Given the description of an element on the screen output the (x, y) to click on. 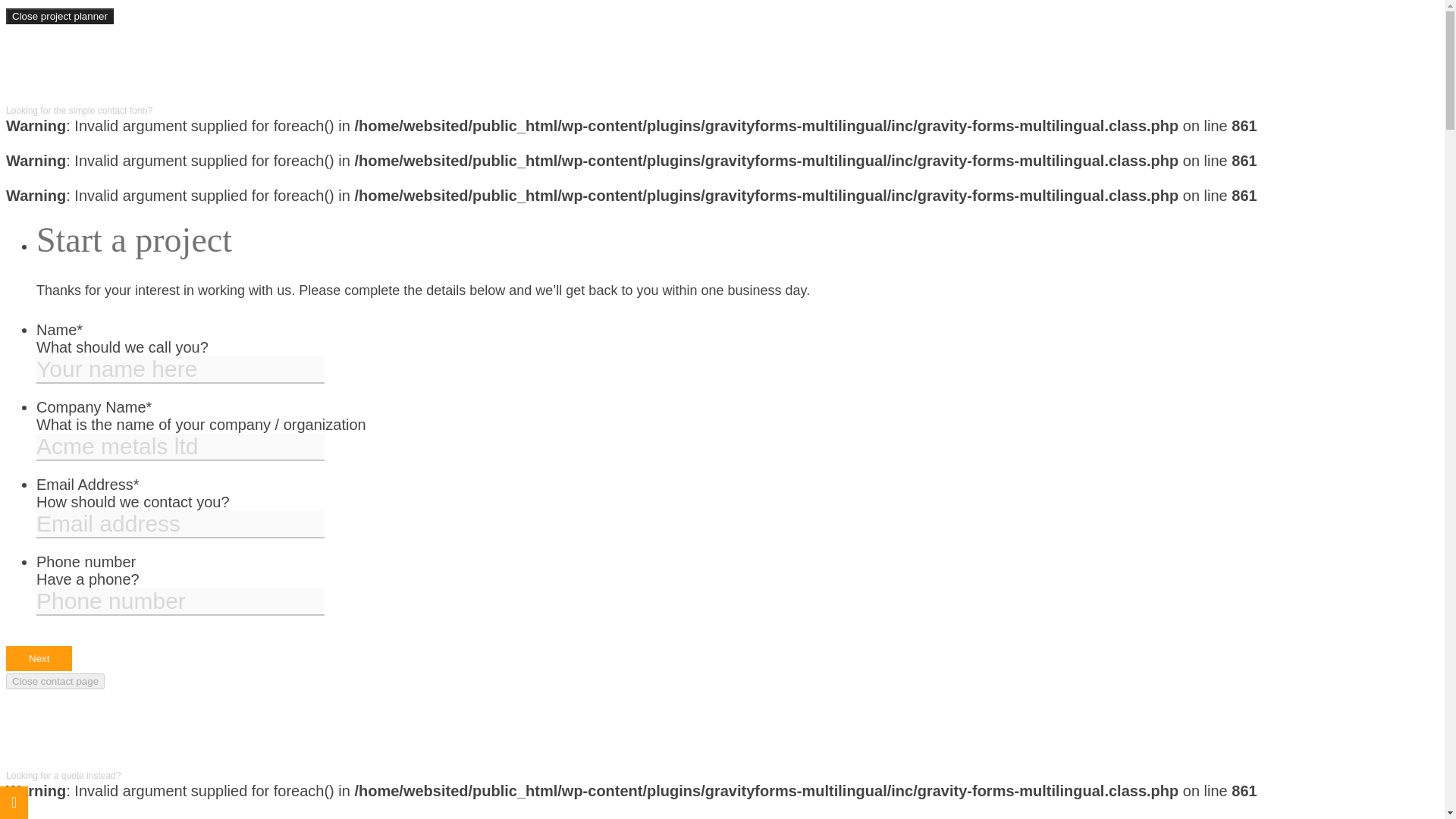
Looking for a quote instead? (62, 775)
Looking for the simple contact form? (78, 110)
Close contact page (54, 681)
Close project planner (59, 16)
Next (38, 658)
